Given the description of an element on the screen output the (x, y) to click on. 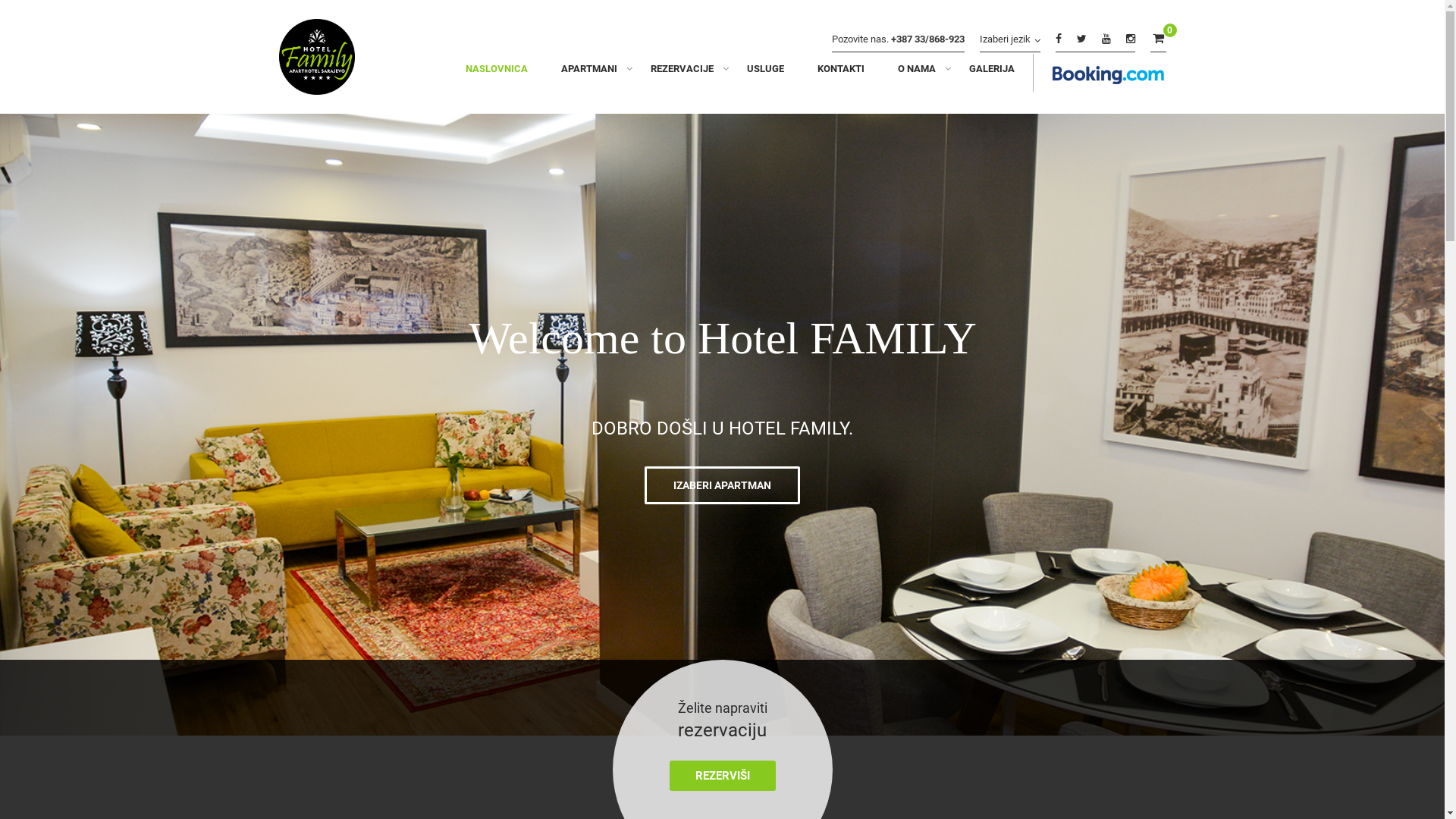
NASLOVNICA Element type: text (496, 72)
Hotel Family - Dobro dosli - welcome Element type: hover (316, 60)
KONTAKTI Element type: text (840, 72)
GALERIJA Element type: text (983, 72)
+387 33/868-923 Element type: text (927, 38)
USLUGE Element type: text (764, 72)
O NAMA Element type: text (916, 72)
APARTMANI Element type: text (589, 72)
REZERVACIJE Element type: text (681, 72)
